Given the description of an element on the screen output the (x, y) to click on. 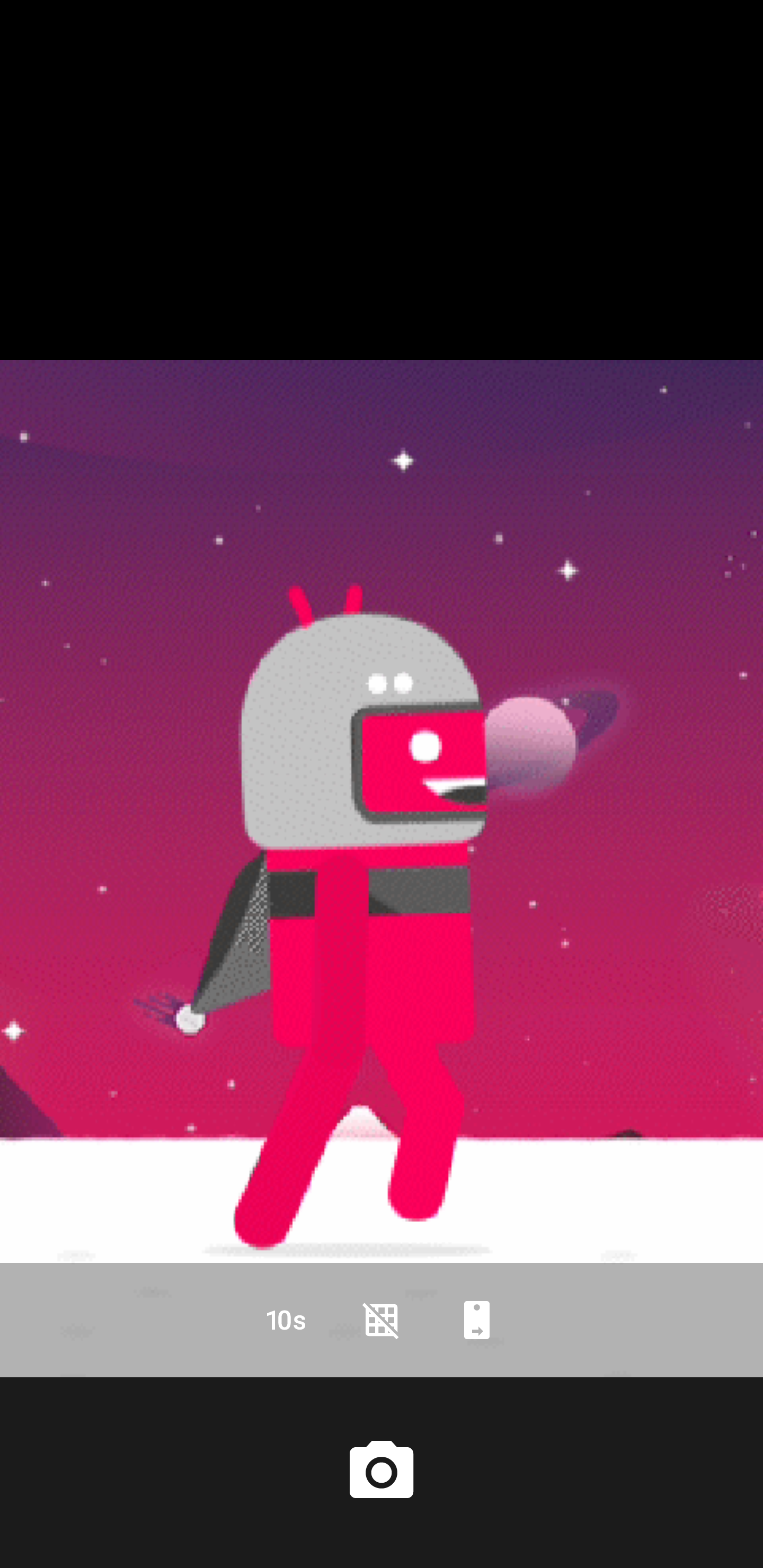
Countdown timer duration is set to 10 seconds (285, 1319)
Grid lines off (381, 1319)
Back camera (476, 1319)
Shutter (381, 1472)
